Given the description of an element on the screen output the (x, y) to click on. 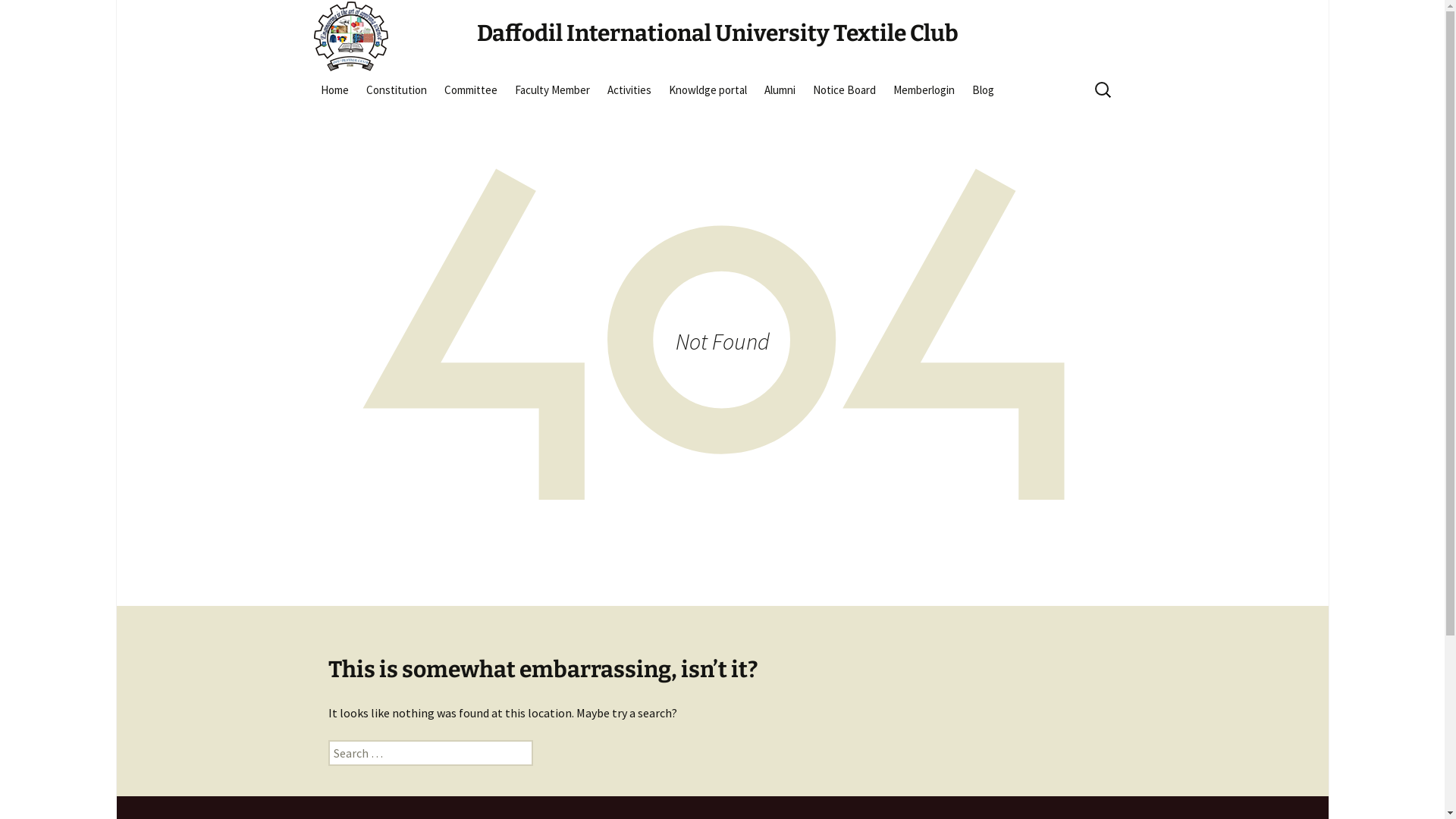
Syllabus Element type: text (736, 123)
Search Element type: text (18, 16)
Blog Element type: text (982, 89)
Notice Board Element type: text (844, 89)
Previous committee Element type: text (512, 123)
Alumni Element type: text (779, 89)
Skip to content Element type: text (312, 72)
Constitution Element type: text (395, 89)
Knowldge portal Element type: text (707, 89)
cricket Element type: text (674, 123)
Faculty Member Element type: text (551, 89)
Committee Element type: text (470, 89)
Reunion Element type: text (832, 123)
Home Element type: text (333, 89)
Activities Element type: text (628, 89)
Search Element type: text (35, 16)
Memberlogin Element type: text (923, 89)
